Given the description of an element on the screen output the (x, y) to click on. 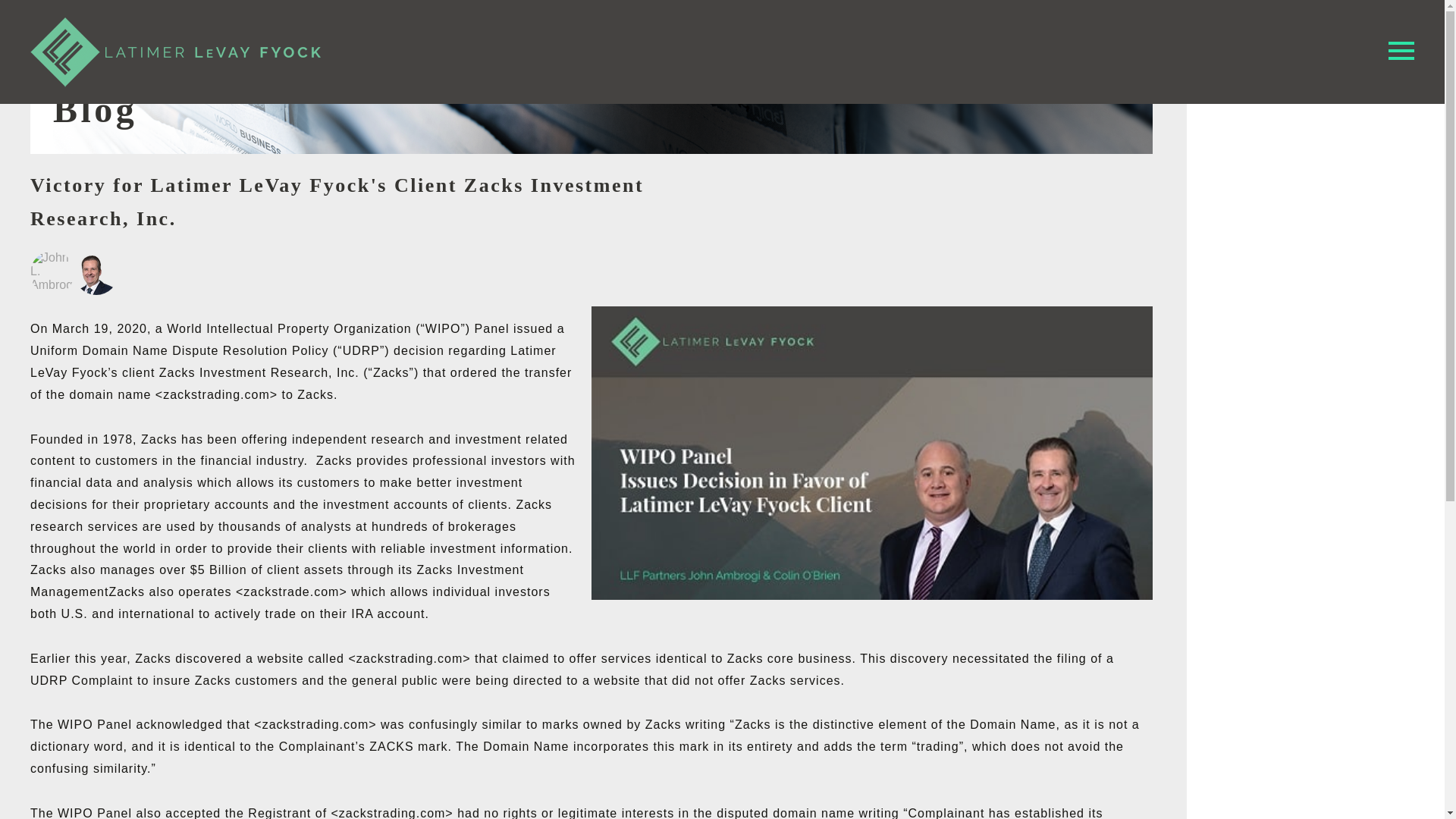
Download as PDF (1086, 21)
John L. Ambrogi (52, 272)
Colin T.J. O'Brien (95, 282)
